Given the description of an element on the screen output the (x, y) to click on. 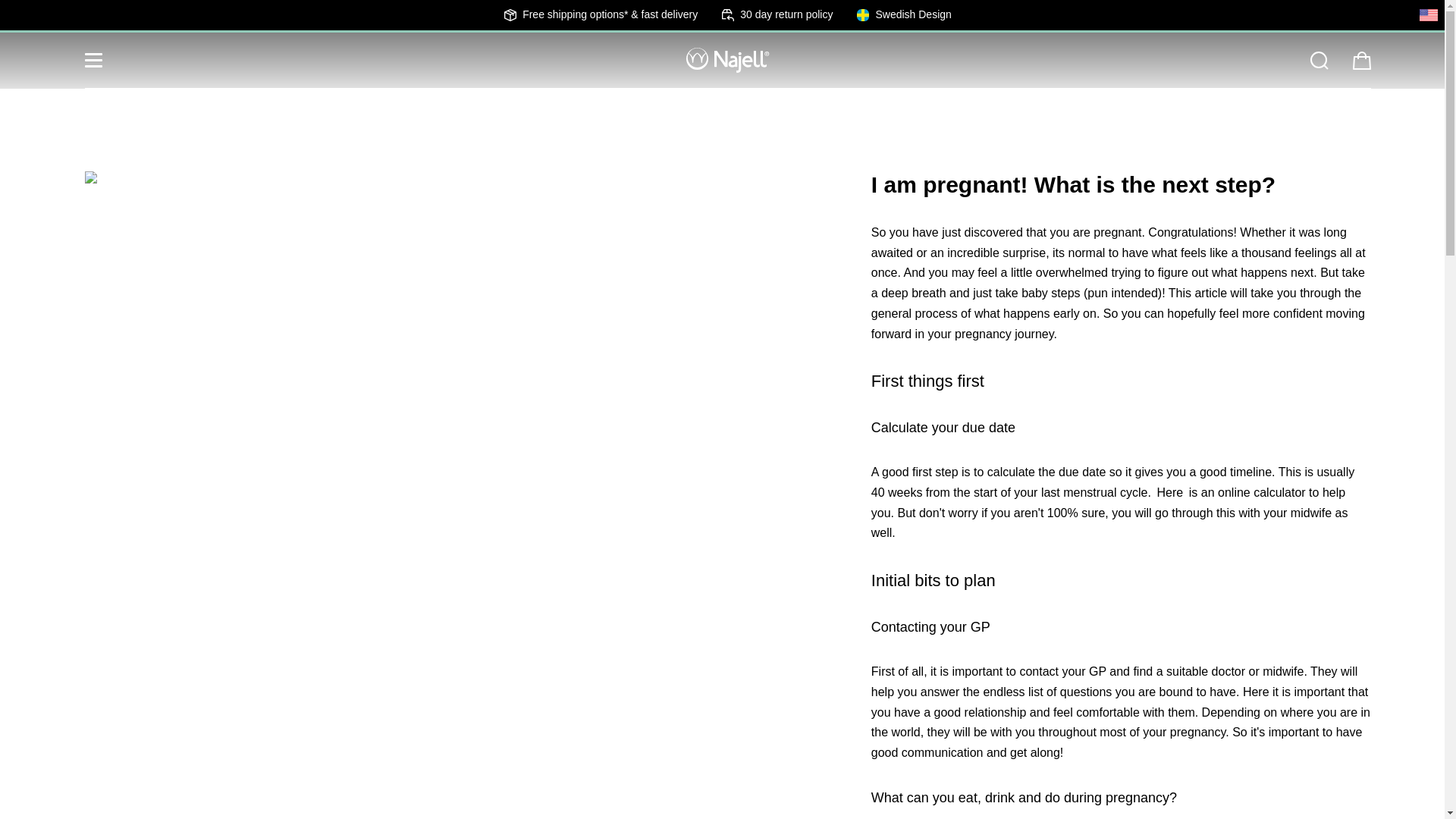
Pregnancy (849, 113)
New (588, 113)
Baby carriers (666, 113)
Babynests (762, 113)
30 day return policy (777, 14)
Swedish Design (903, 14)
Here (1169, 492)
